Given the description of an element on the screen output the (x, y) to click on. 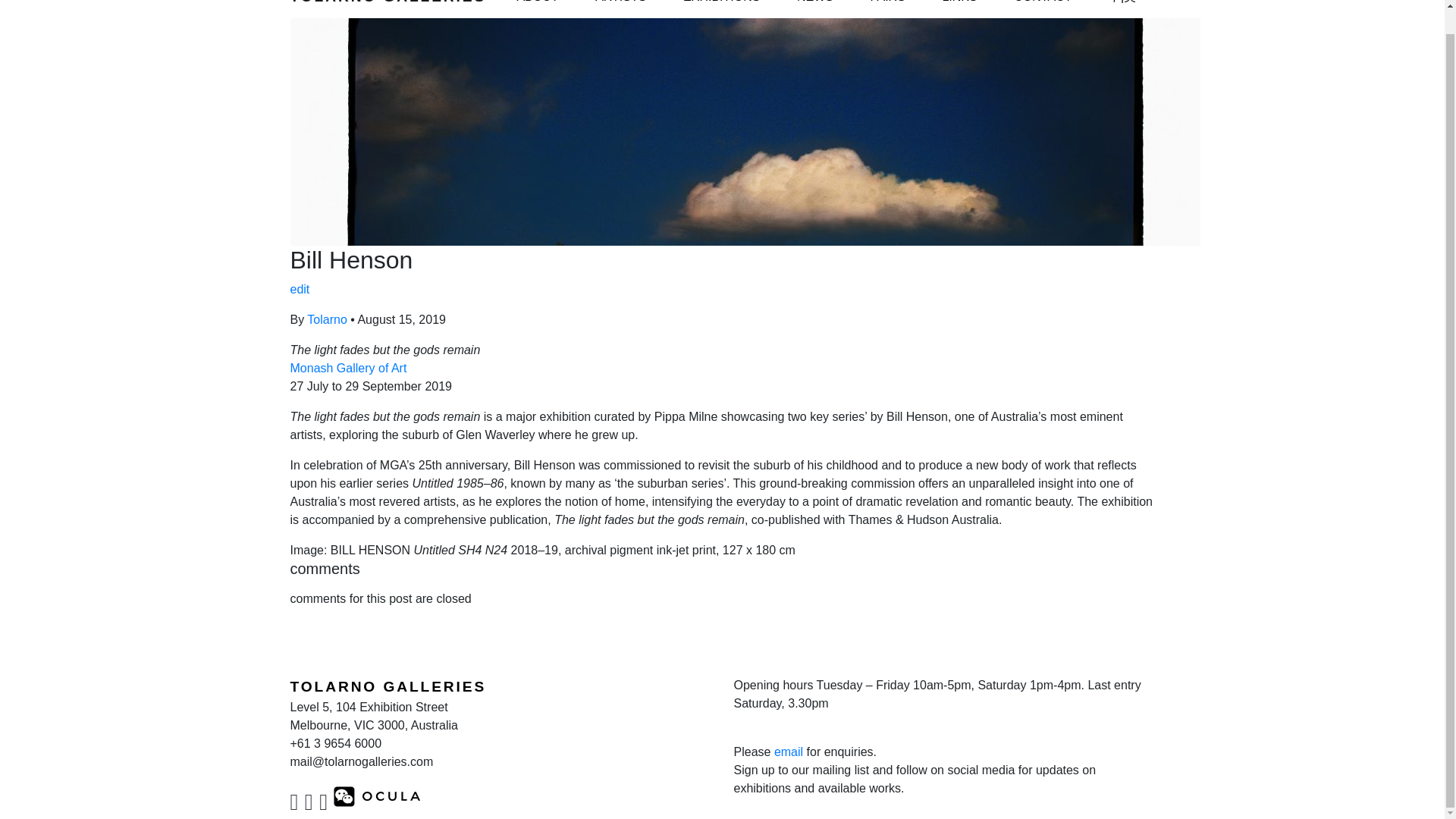
TOLARNO GALLERIES (387, 6)
ABOUT (536, 6)
EXHIBITIONS (721, 6)
ARTISTS (620, 6)
